Given the description of an element on the screen output the (x, y) to click on. 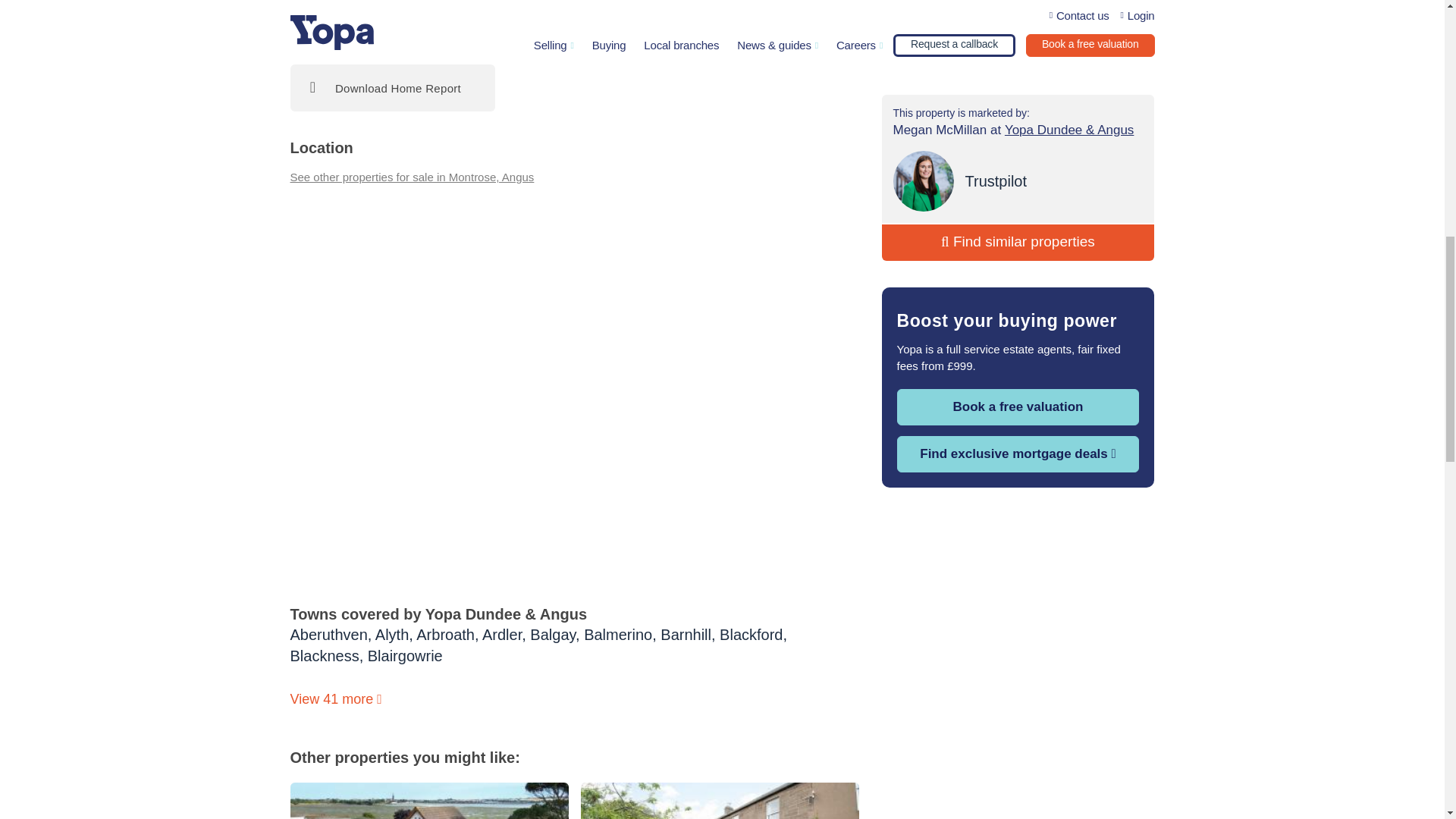
Popular residential area (370, 14)
A great family home (533, 14)
Download Home Report (392, 87)
